Given the description of an element on the screen output the (x, y) to click on. 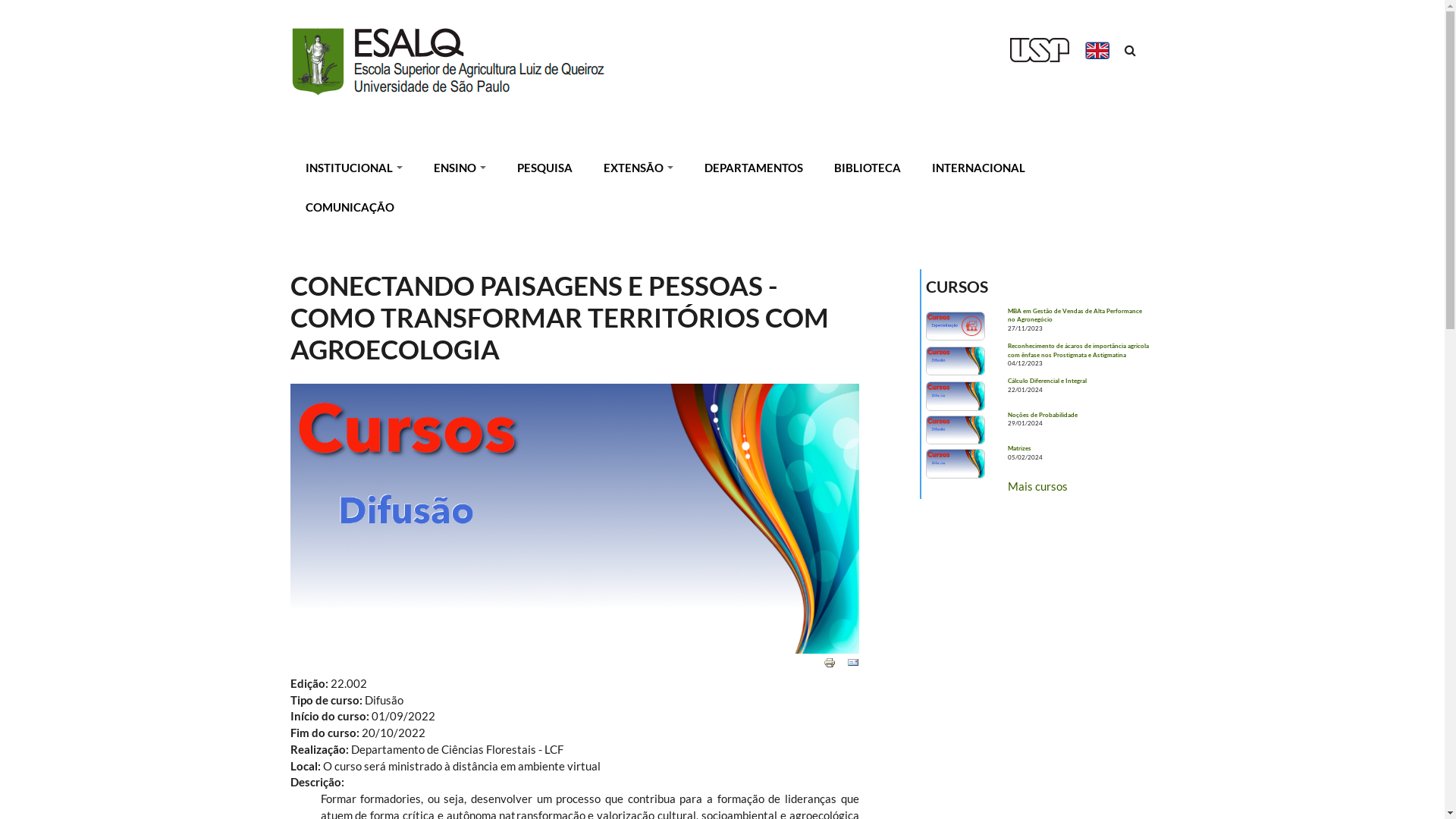
USP Element type: hover (1039, 49)
Matrizes Element type: text (1019, 447)
Mais cursos Element type: text (1037, 485)
BIBLIOTECA Element type: text (867, 168)
Enviar por email Element type: hover (852, 662)
INSTITUCIONAL Element type: text (353, 168)
ENSINO Element type: text (460, 168)
DEPARTAMENTOS Element type: text (753, 168)
PESQUISA Element type: text (545, 168)
INTERNACIONAL Element type: text (978, 168)
Send this page by email. Element type: hover (852, 661)
Display a printer-friendly version of this page. Element type: hover (829, 661)
